Given the description of an element on the screen output the (x, y) to click on. 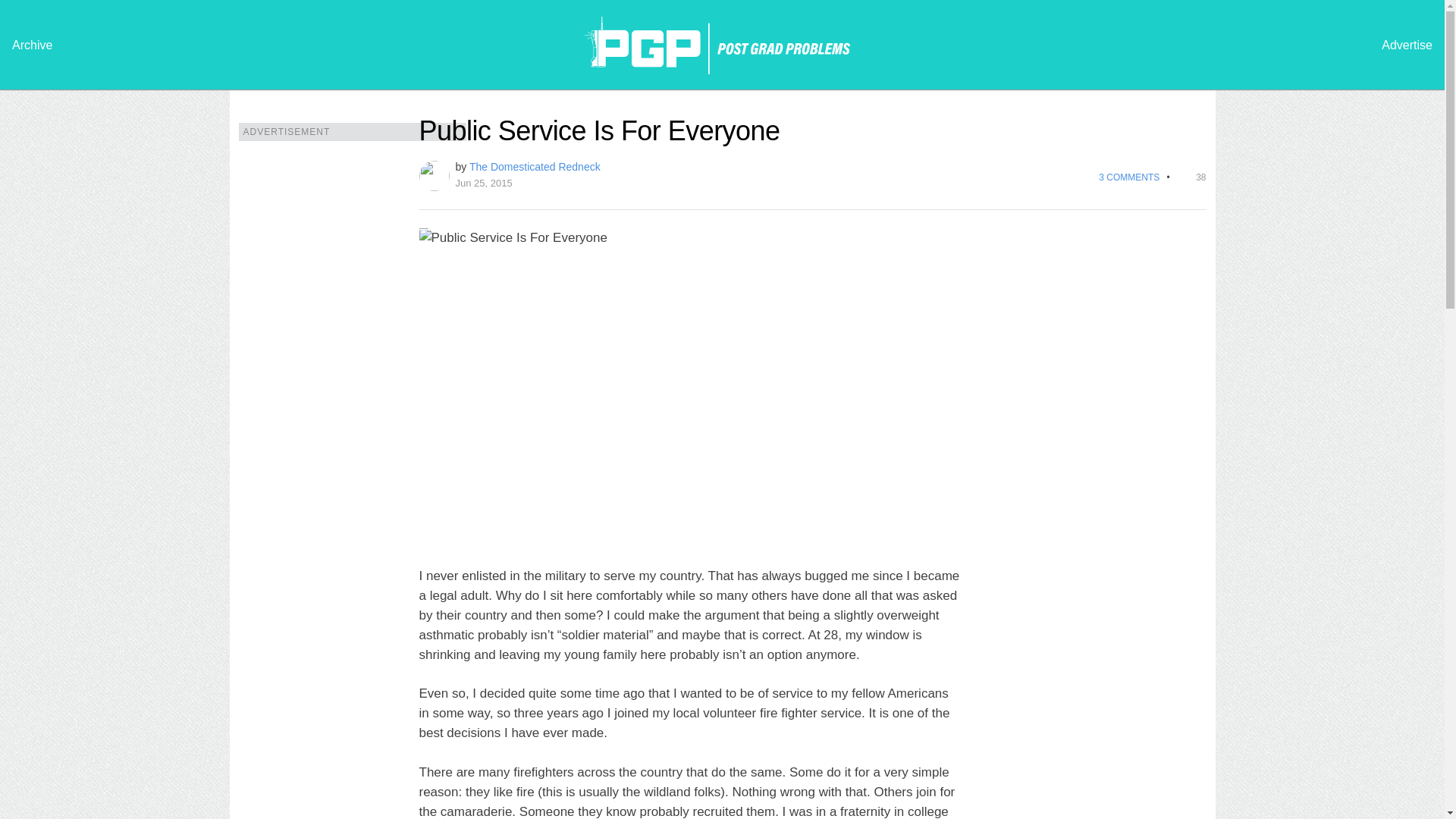
The Domesticated Redneck (533, 166)
3 COMMENTS (1127, 176)
Posts by The Domesticated Redneck (533, 166)
Advertise (1406, 45)
Archive (31, 45)
